Given the description of an element on the screen output the (x, y) to click on. 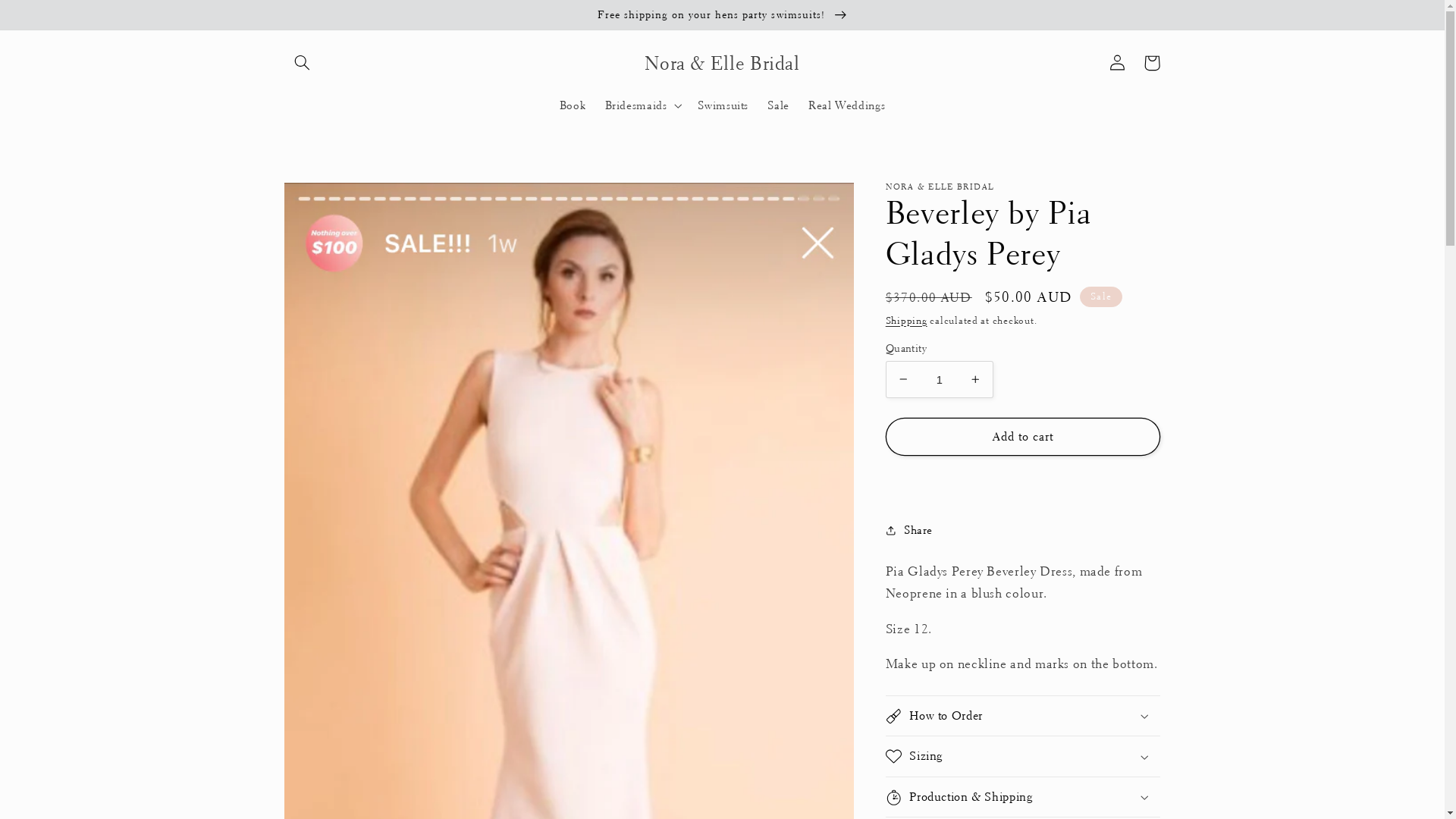
Book Element type: text (572, 105)
Real Weddings Element type: text (846, 105)
Decrease quantity for Beverley by Pia Gladys Perey Element type: text (903, 379)
Free shipping on your hens party swimsuits! Element type: text (722, 14)
Sale Element type: text (778, 105)
Nora & Elle Bridal Element type: text (721, 62)
Add to cart Element type: text (1022, 436)
Skip to product information Element type: text (331, 200)
Swimsuits Element type: text (723, 105)
Shipping Element type: text (906, 319)
Log in Element type: text (1116, 62)
Cart Element type: text (1151, 62)
Increase quantity for Beverley by Pia Gladys Perey Element type: text (975, 379)
